Given the description of an element on the screen output the (x, y) to click on. 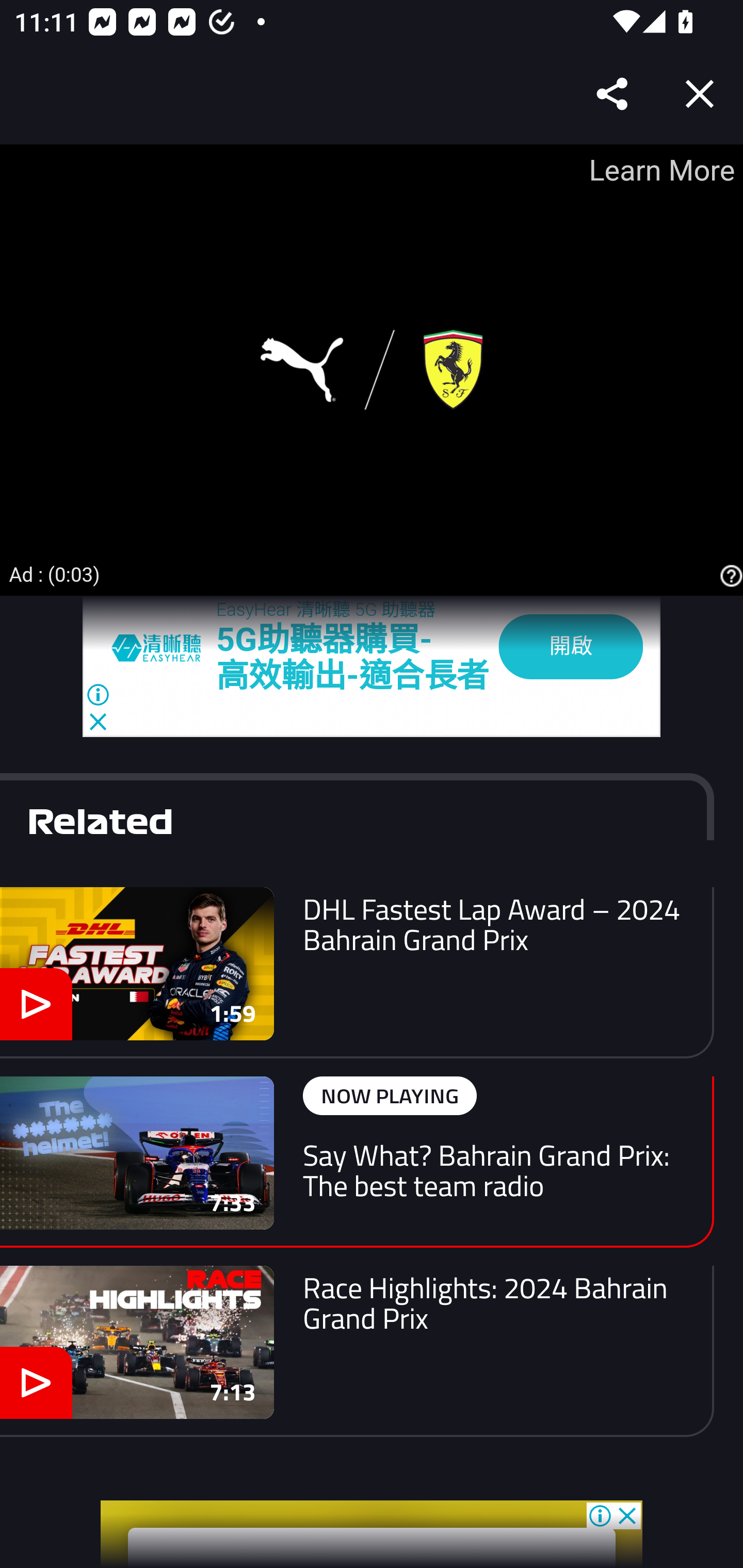
Share (612, 93)
Close (699, 93)
Learn More (660, 170)
Ad : (0:04) (54, 573)
help_outline_white_24dp_with_3px_trbl_padding (728, 576)
easyhear.com (163, 646)
開啟 (570, 646)
5G助聽器購買- 高效輸出-適合長者 5G助聽器購買- 高效輸出-適合長者 (353, 657)
7:13 Race Highlights: 2024 Bahrain Grand Prix (357, 1350)
